Given the description of an element on the screen output the (x, y) to click on. 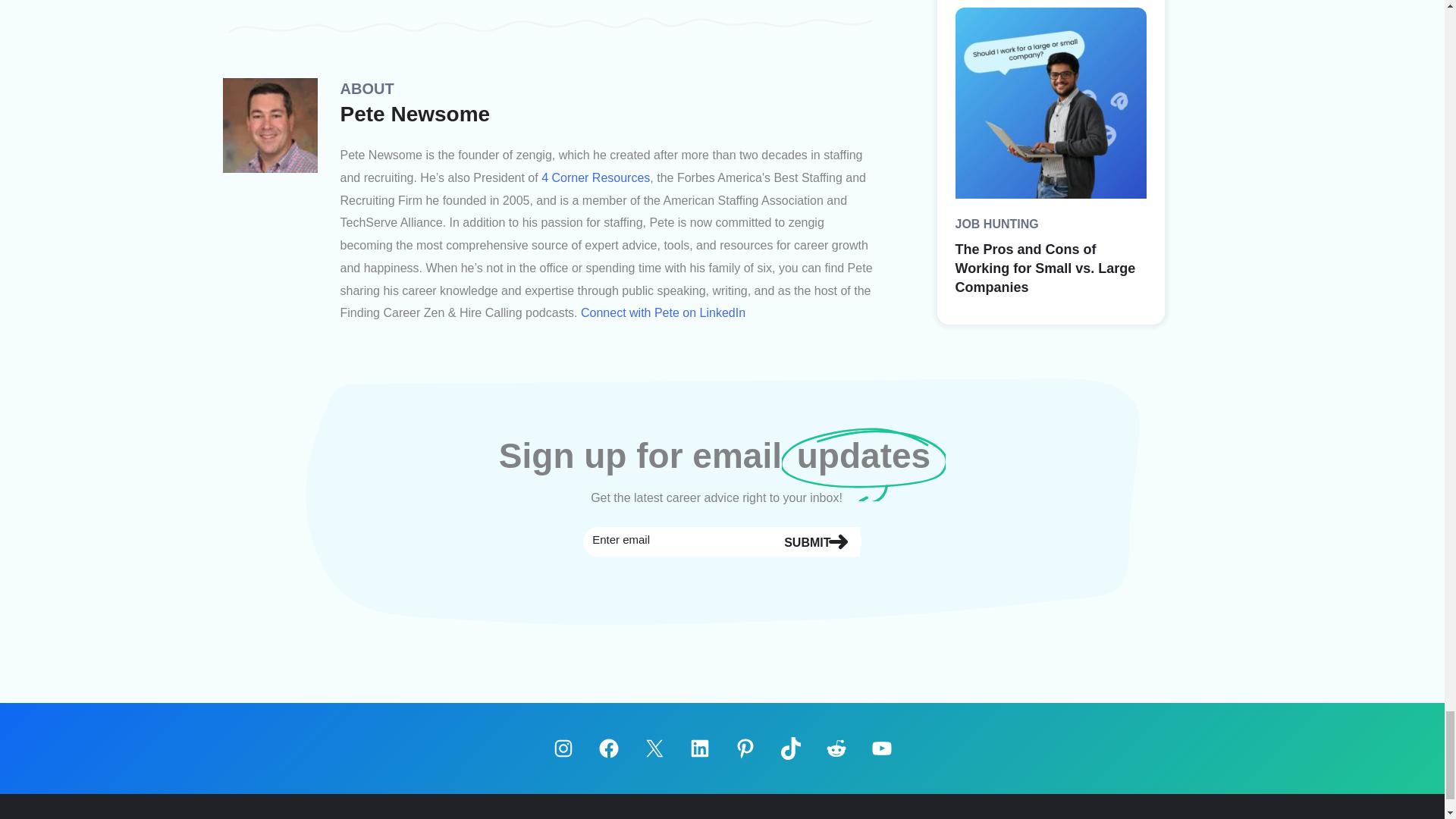
Posts by Pete Newsome (414, 114)
Submit (814, 541)
